Given the description of an element on the screen output the (x, y) to click on. 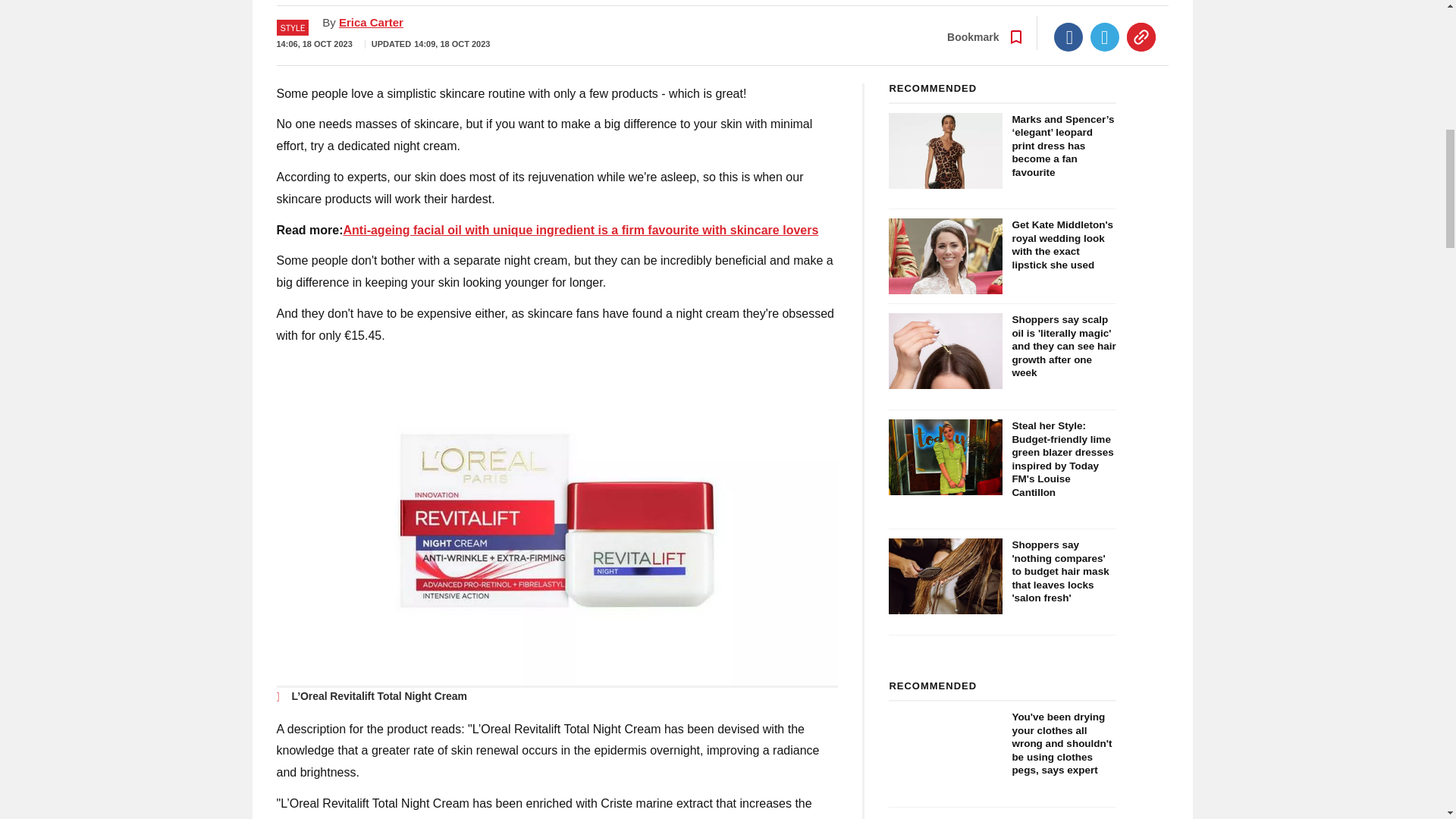
Twitter (1104, 36)
Facebook (1068, 36)
